Given the description of an element on the screen output the (x, y) to click on. 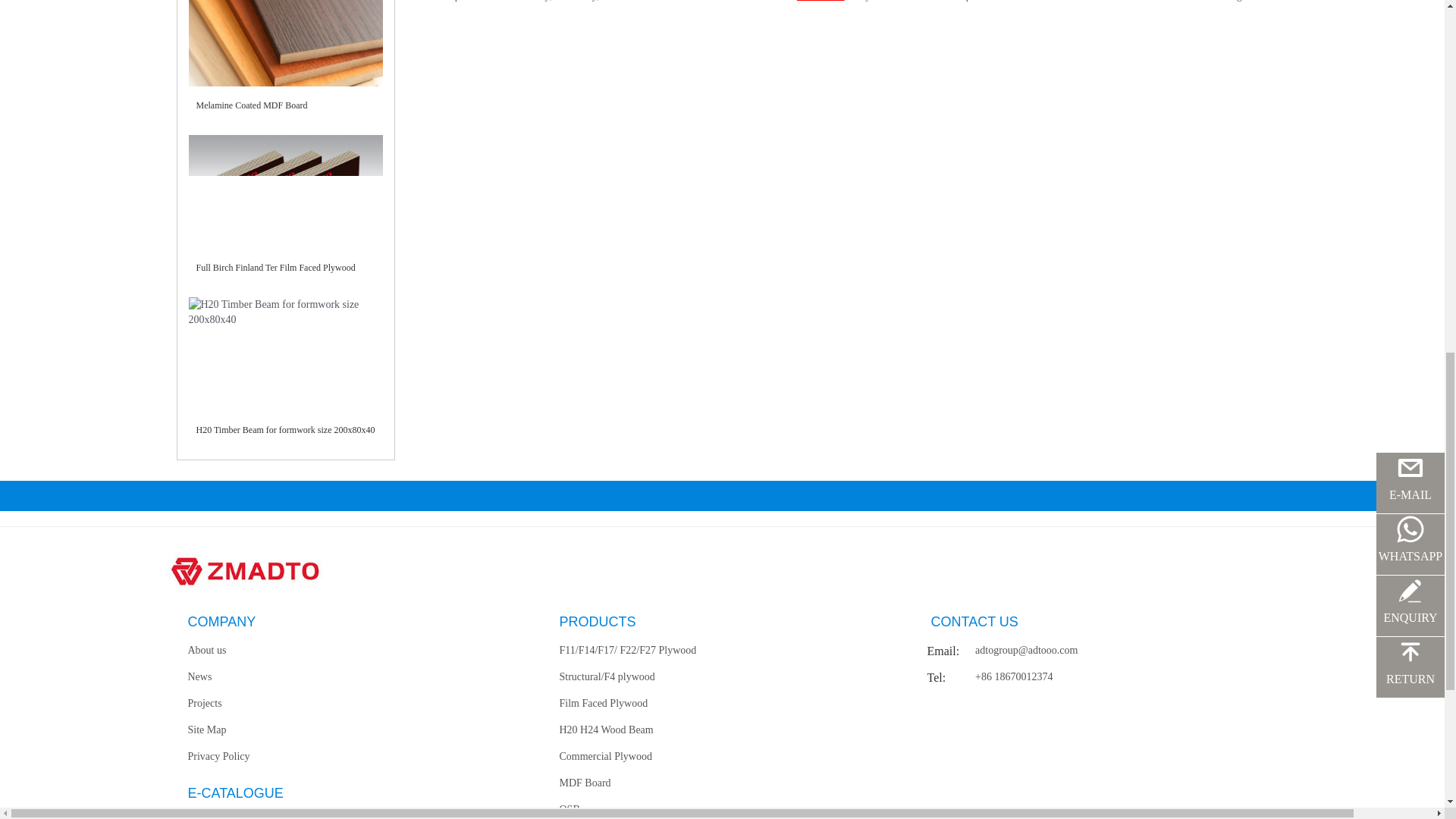
Melamine Coated MDF Board (251, 104)
ZMADTO (820, 0)
H20 Timber Beam for formwork size 200x80x40 (284, 429)
Full Birch Finland Ter Film Faced Plywood (275, 267)
ZMADTO (820, 0)
